Given the description of an element on the screen output the (x, y) to click on. 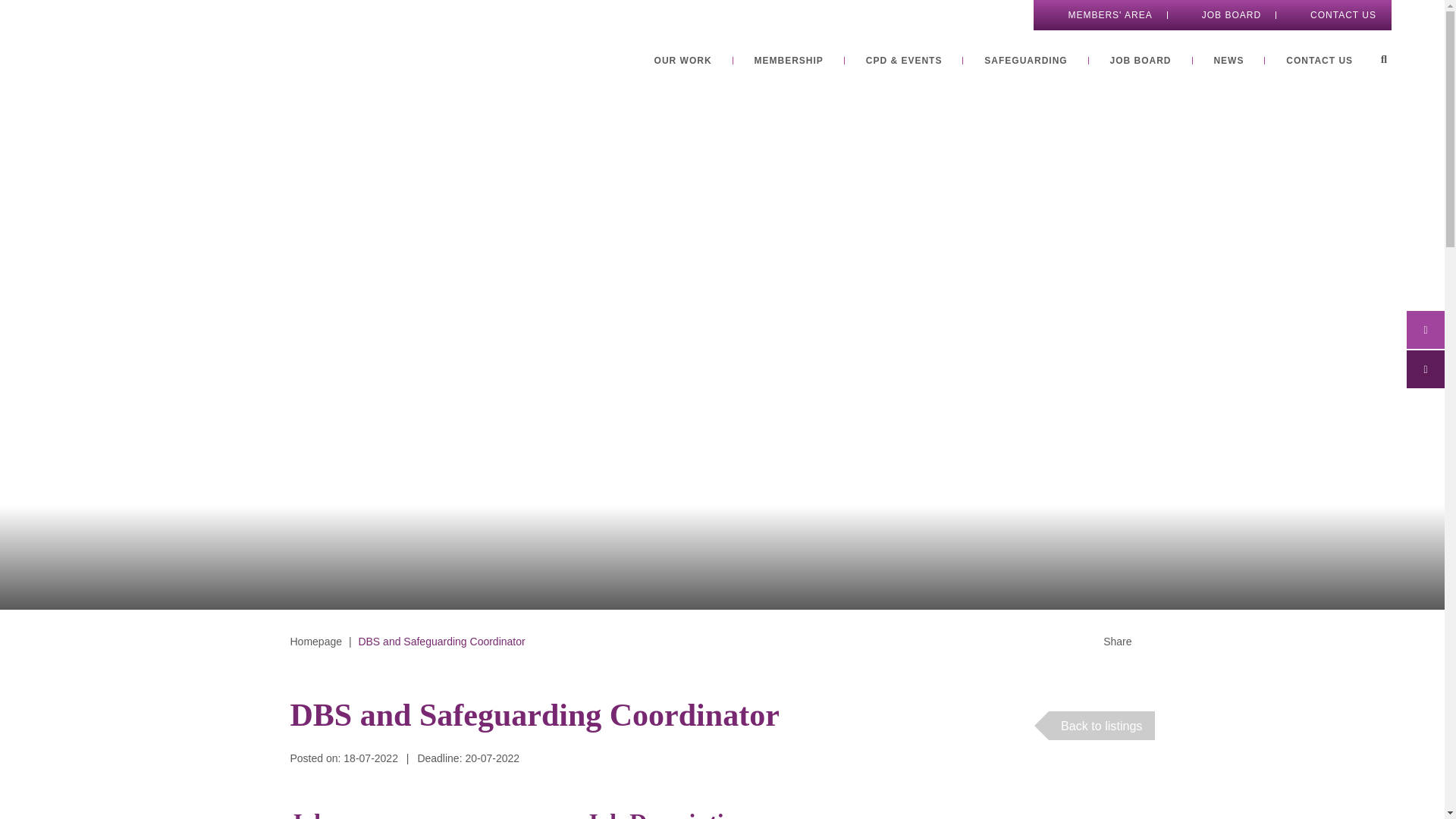
JOB BOARD (1140, 60)
CONTACT US (1318, 60)
CONTACT US (1333, 15)
NEWS (1227, 60)
JOB BOARD (1221, 15)
MEMBERS' AREA (1099, 15)
MEMBERSHIP (788, 60)
SAFEGUARDING (1025, 60)
OUR WORK (682, 60)
Go to Sacpa. (315, 641)
